Given the description of an element on the screen output the (x, y) to click on. 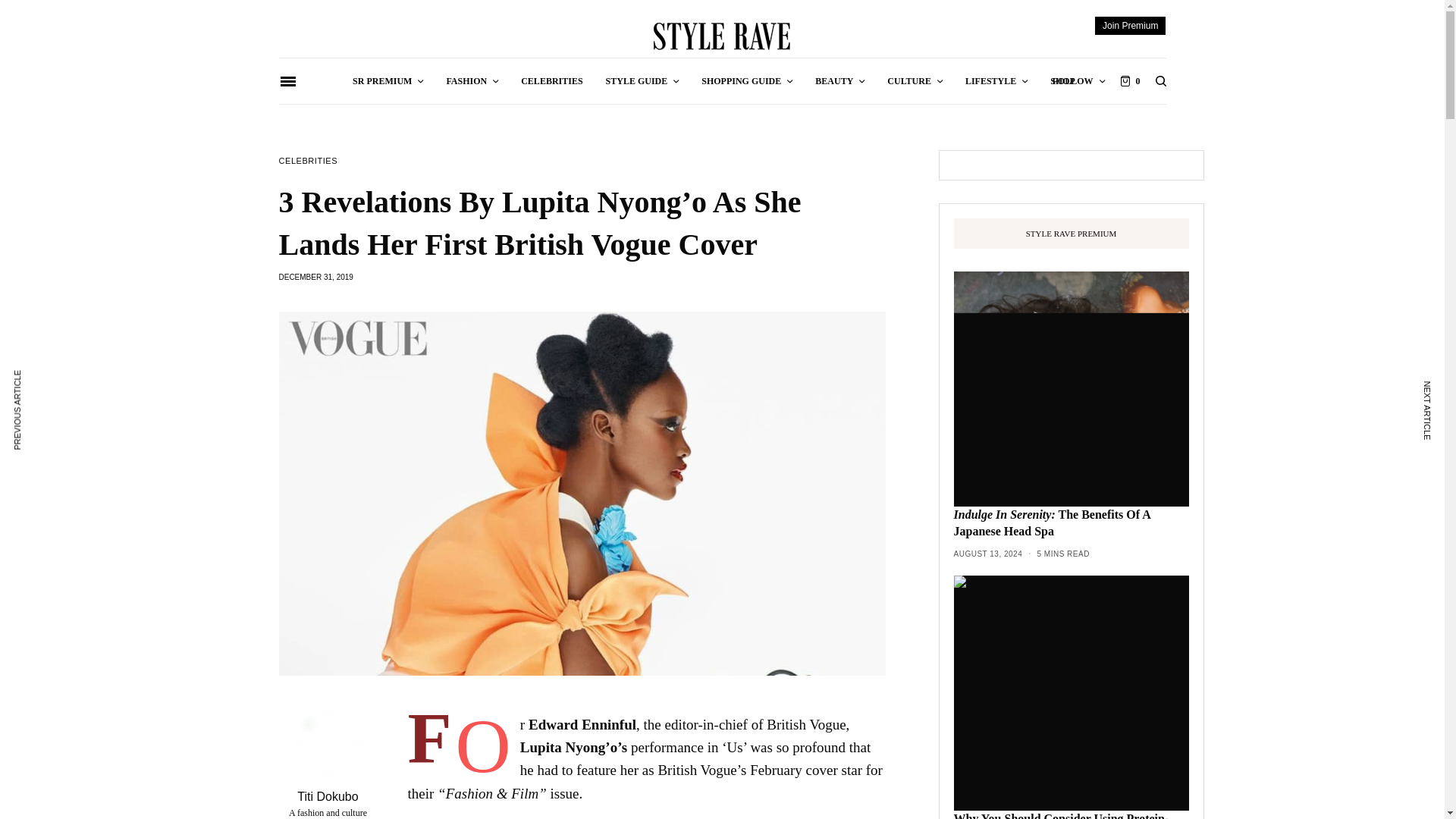
Why You Should Consider Using Protein-Free Shampoo (1071, 814)
Style Rave (721, 35)
Indulge In Serenity: The Benefits Of A Japanese Head Spa (1071, 523)
